Given the description of an element on the screen output the (x, y) to click on. 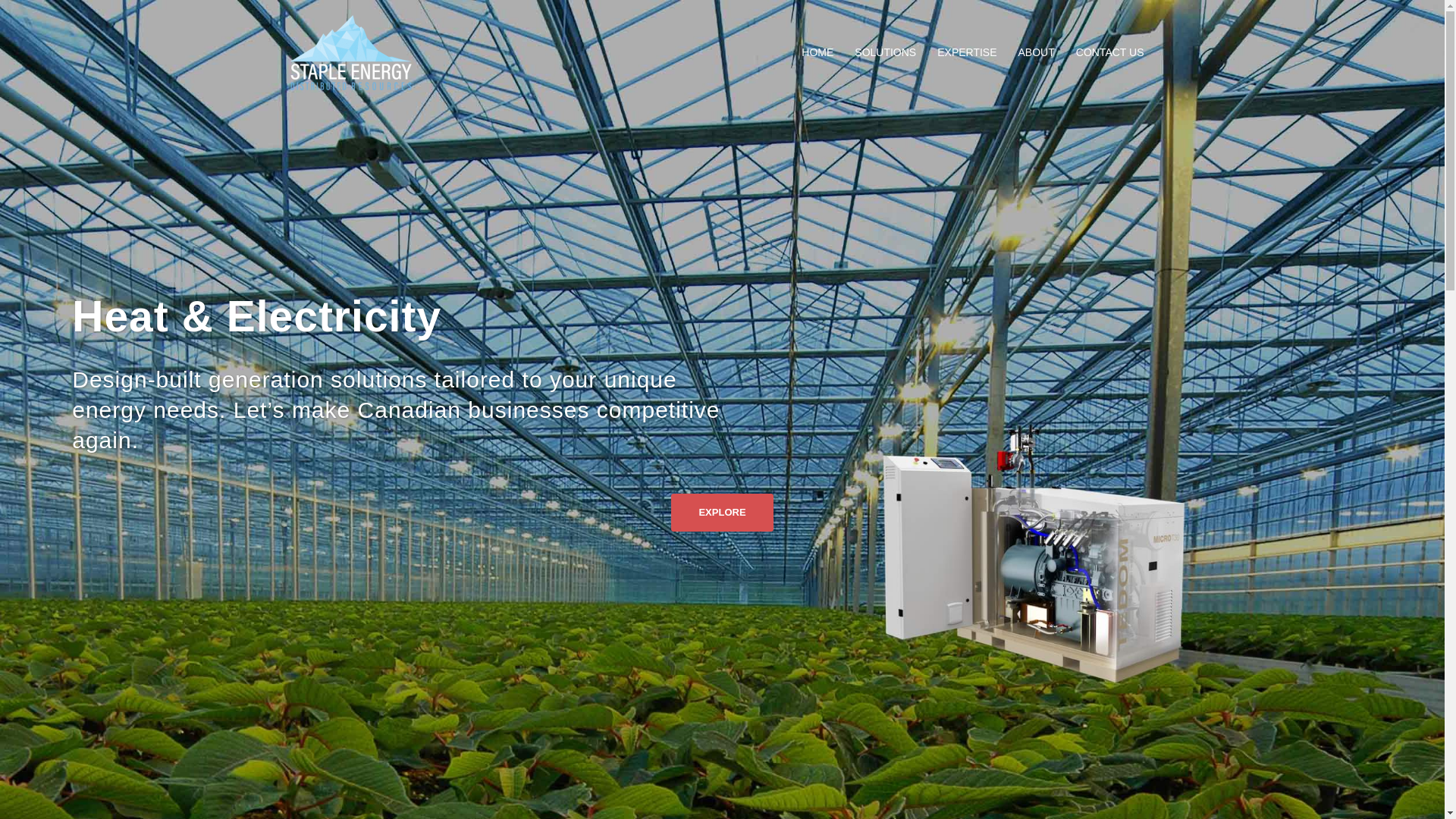
Staple Energy Distributed Resources (349, 51)
HOME (817, 53)
EXPERTISE (966, 53)
CONTACT US (1109, 53)
SOLUTIONS (884, 53)
ABOUT (1035, 53)
EXPLORE (722, 512)
